Given the description of an element on the screen output the (x, y) to click on. 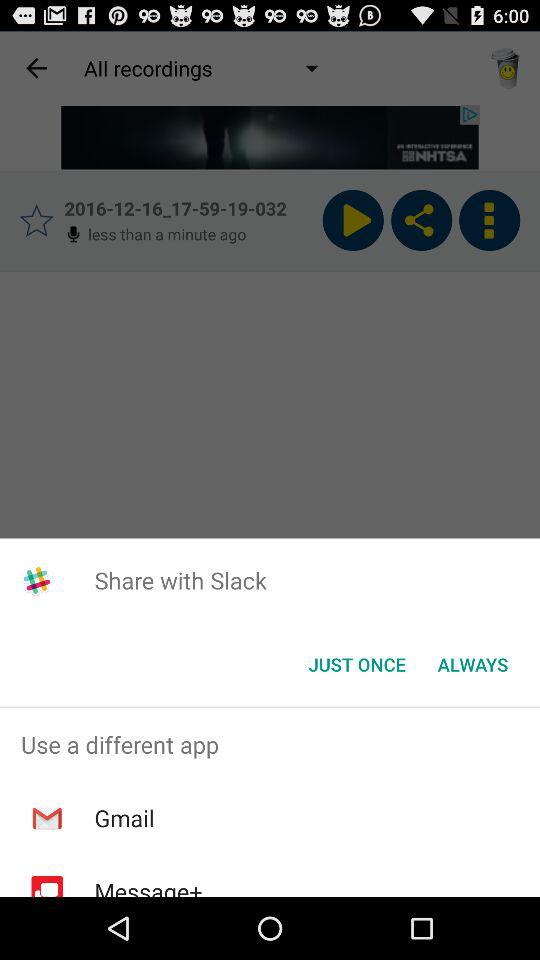
launch item below share with slack app (356, 664)
